Given the description of an element on the screen output the (x, y) to click on. 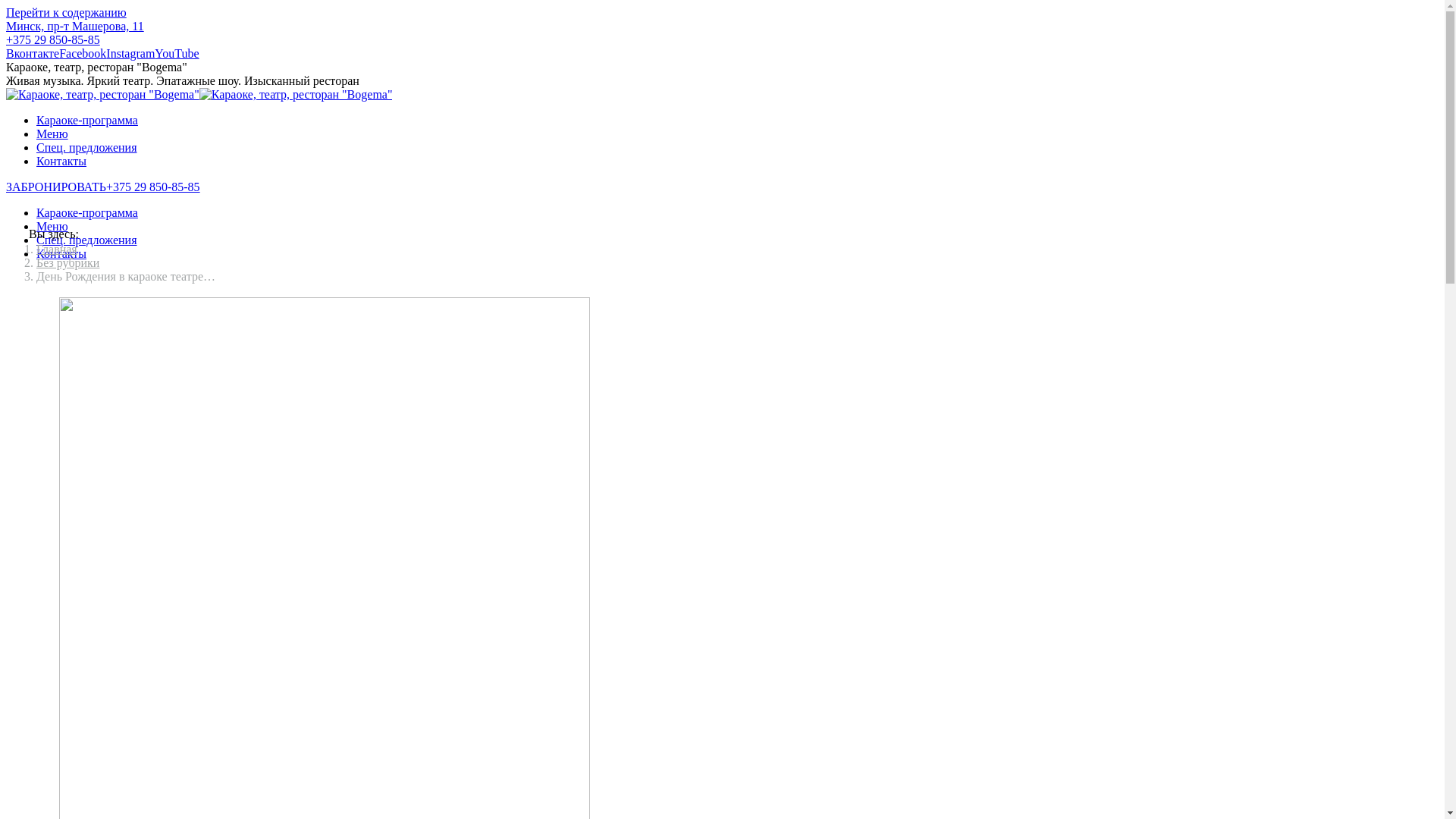
+375 29 850-85-85 Element type: text (153, 186)
Facebook Element type: text (82, 53)
Instagram Element type: text (130, 53)
+375 29 850-85-85 Element type: text (53, 39)
YouTube Element type: text (176, 53)
